Given the description of an element on the screen output the (x, y) to click on. 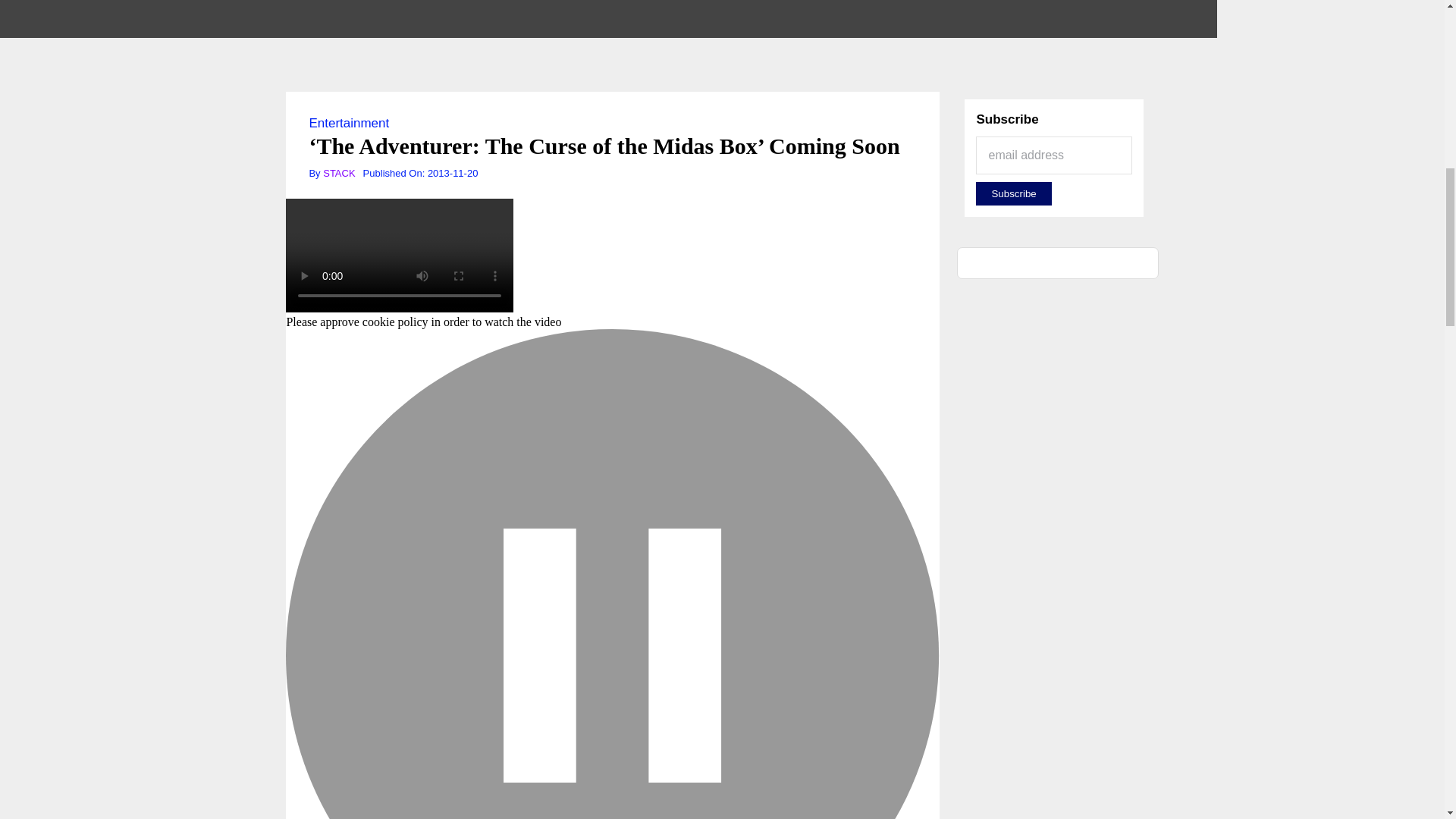
Subscribe (1013, 193)
Posts by STACK (339, 173)
Entertainment (348, 123)
